Given the description of an element on the screen output the (x, y) to click on. 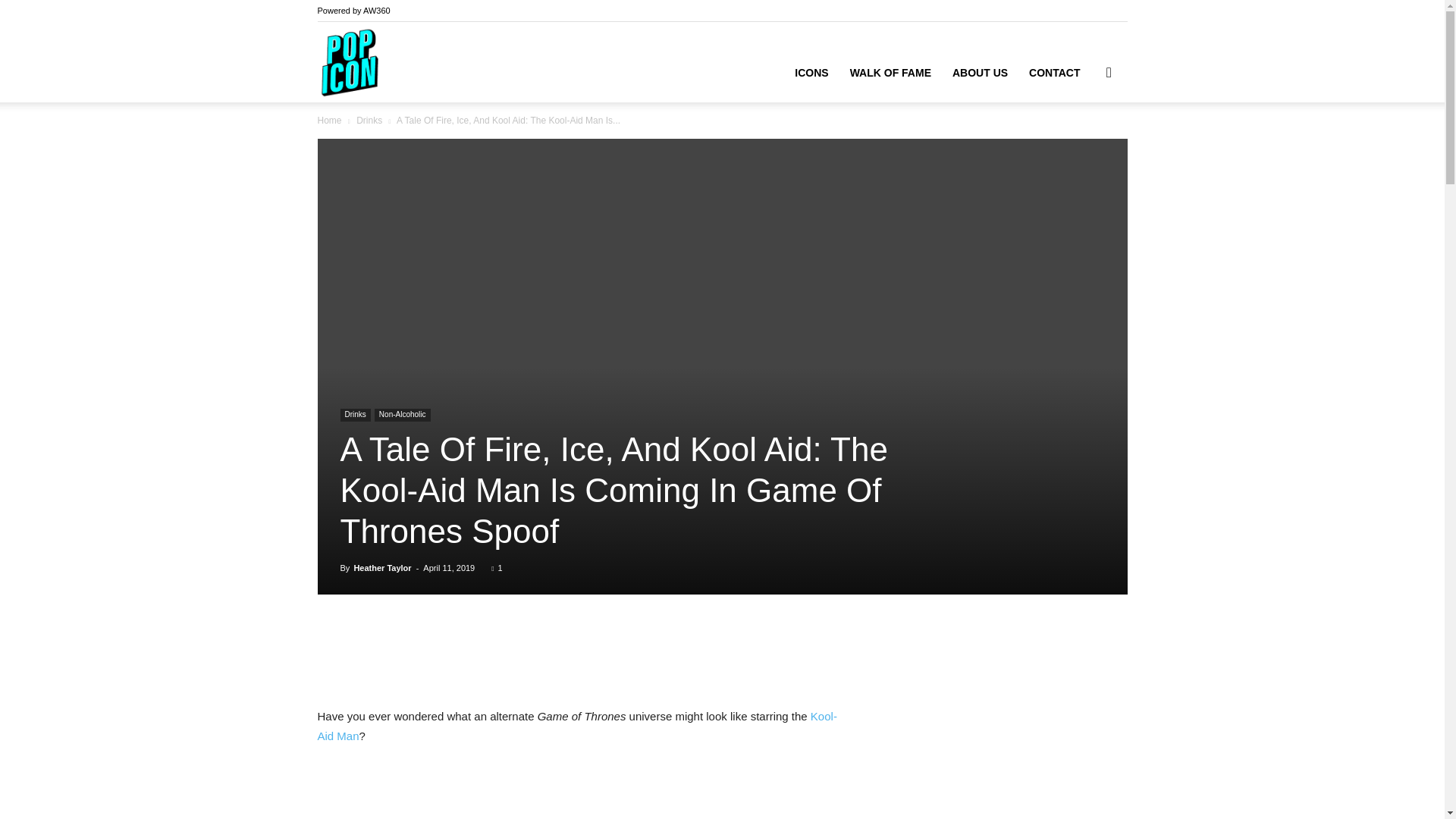
ICONS (811, 72)
Drinks (368, 120)
Drinks (354, 414)
Powered by AW360 (353, 10)
PopIcon.life (348, 61)
Home (328, 120)
WALK OF FAME (891, 72)
Non-Alcoholic (402, 414)
Heather Taylor (381, 567)
View all posts in Drinks (368, 120)
